Given the description of an element on the screen output the (x, y) to click on. 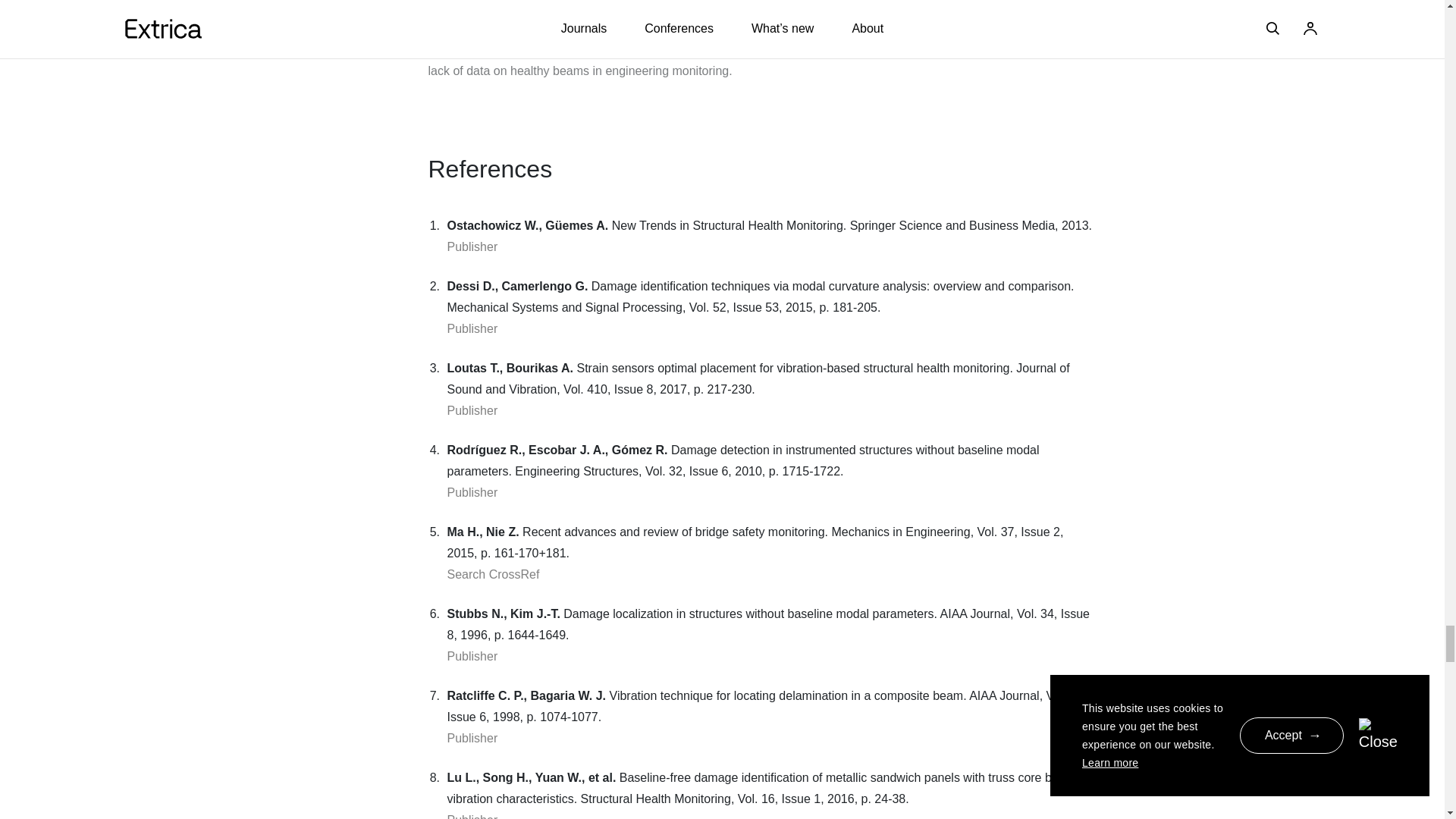
Search CrossRef (493, 574)
Publisher (471, 492)
Publisher (471, 246)
Publisher (471, 656)
Publisher (471, 816)
Publisher (471, 410)
Publisher (471, 328)
Publisher (471, 738)
